Given the description of an element on the screen output the (x, y) to click on. 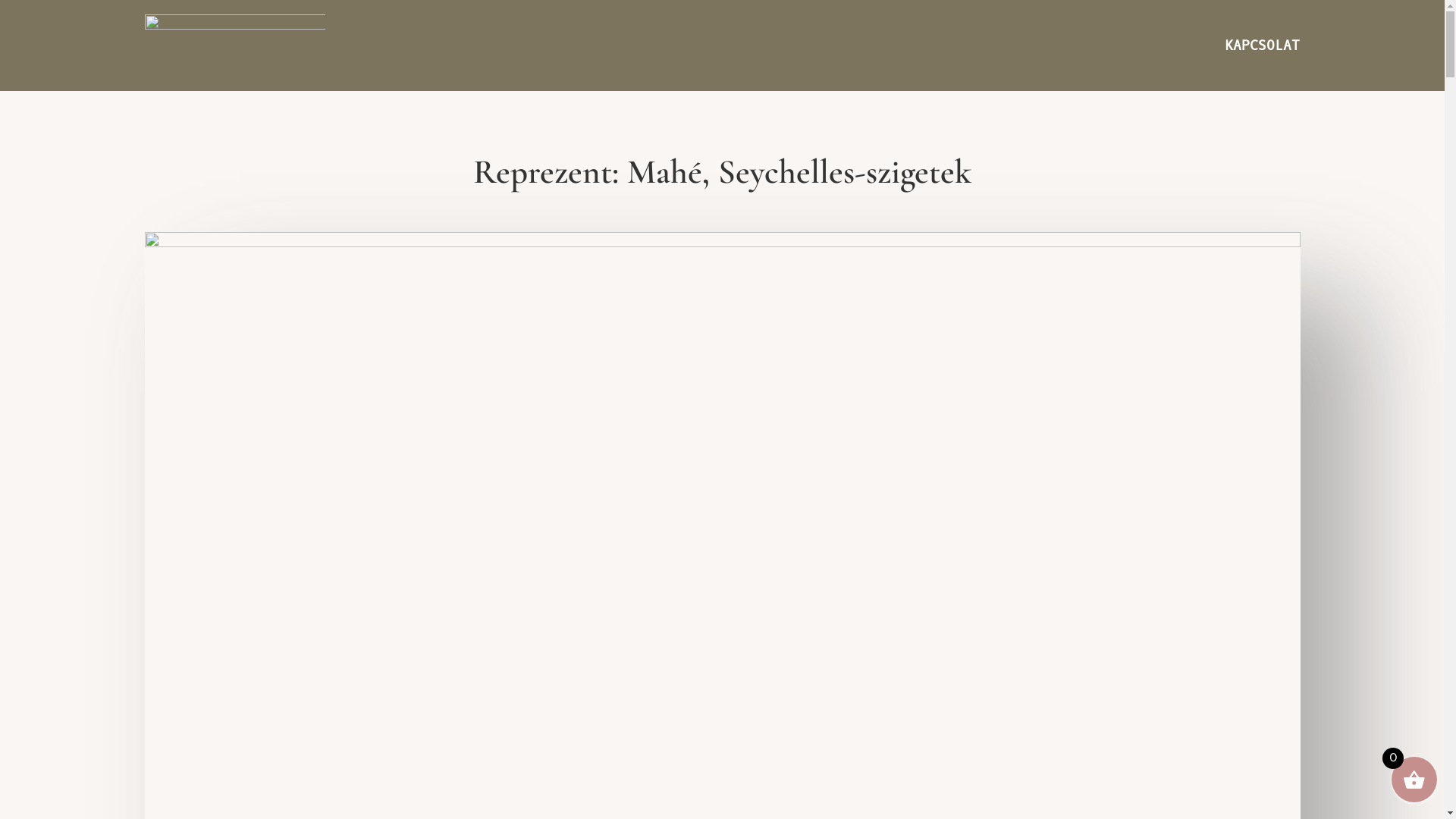
KAPCSOLAT Element type: text (1261, 48)
logo nagy Element type: hover (234, 45)
